Given the description of an element on the screen output the (x, y) to click on. 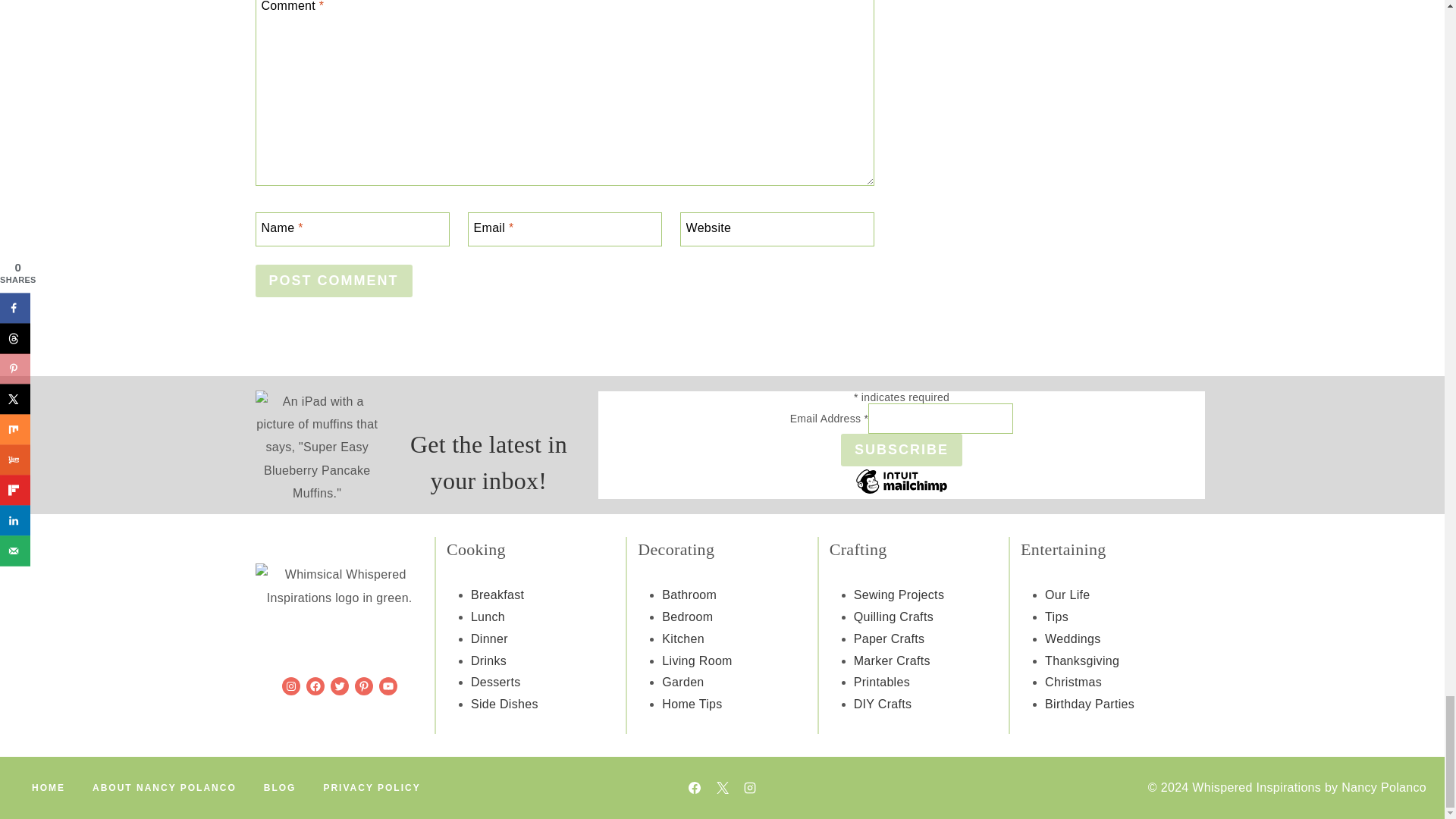
Post Comment (333, 280)
Subscribe (901, 450)
